Given the description of an element on the screen output the (x, y) to click on. 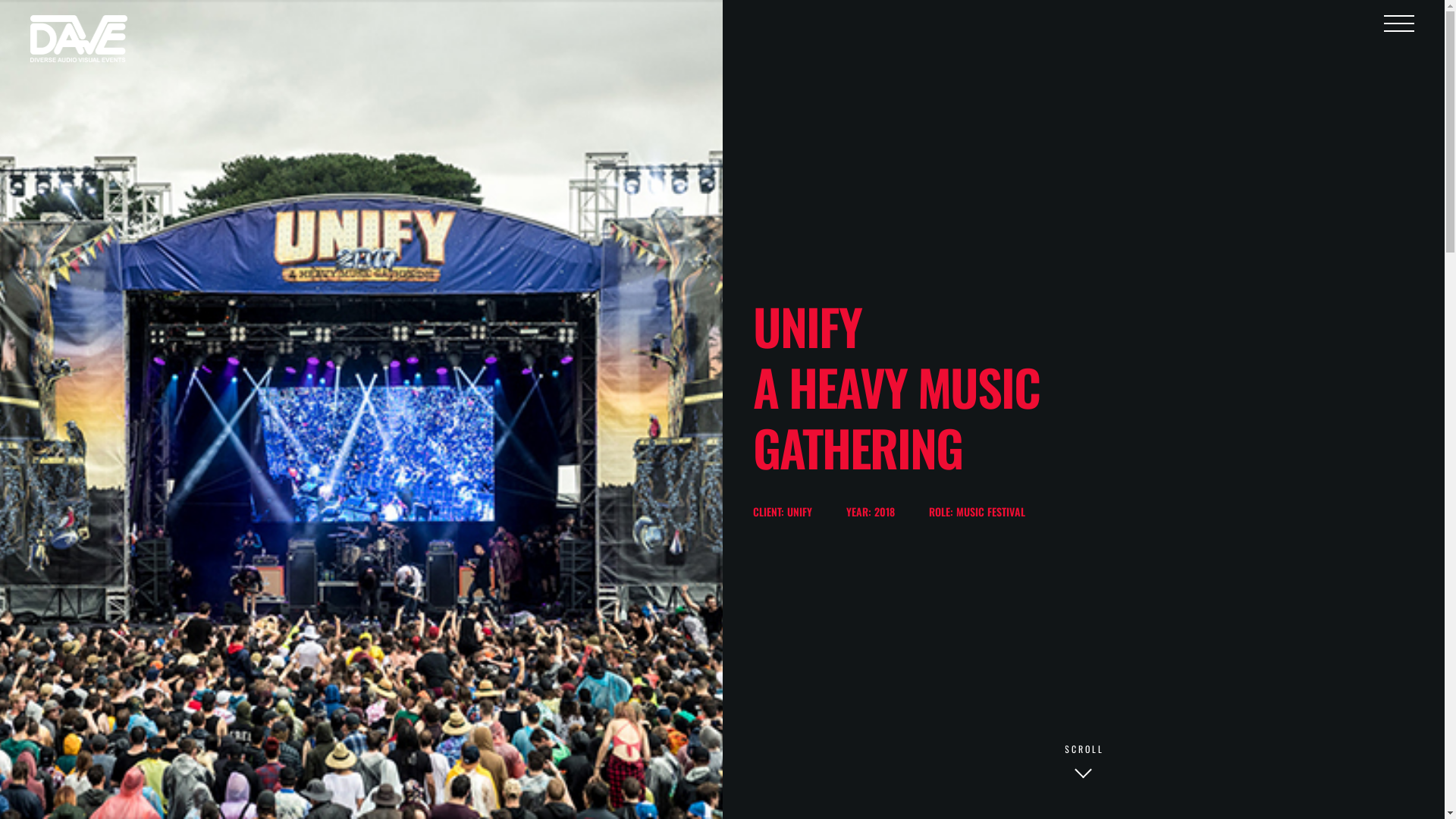
+61 400 108 374 Element type: text (697, 612)
FAZZARI MULTIMEDIA Element type: text (816, 746)
PRODUCTION@DIVERSEAV.COM.AU Element type: text (730, 587)
PAST EVENTS Element type: text (415, 644)
SCROLL Element type: text (1082, 765)
FACTORY 4B/1265 KOO WEE RUP RD, PAKENHAM VIC 3810 Element type: text (772, 638)
TWITTER Element type: text (1002, 607)
HIRE Element type: text (397, 625)
ABOUT Element type: text (402, 607)
INSTAGRAM Element type: text (1010, 588)
HOME Element type: text (400, 588)
CONTACT Element type: text (407, 663)
